Given the description of an element on the screen output the (x, y) to click on. 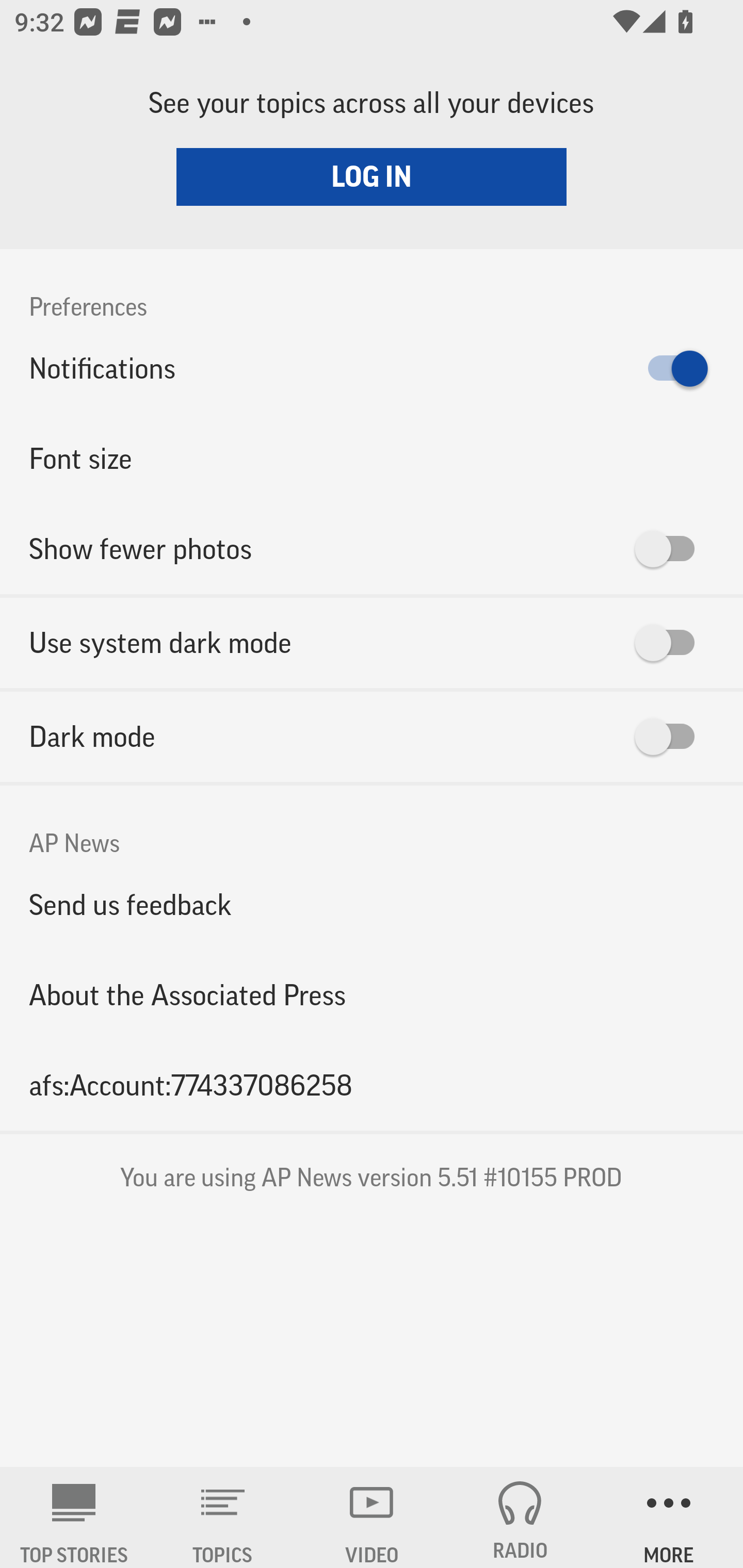
LOG IN (371, 176)
Notifications (371, 368)
Font size (371, 458)
Show fewer photos (371, 548)
Use system dark mode (371, 642)
Dark mode (371, 736)
Send us feedback (371, 904)
About the Associated Press (371, 994)
afs:Account:774337086258 (371, 1084)
AP News TOP STORIES (74, 1517)
TOPICS (222, 1517)
VIDEO (371, 1517)
RADIO (519, 1517)
MORE (668, 1517)
